Given the description of an element on the screen output the (x, y) to click on. 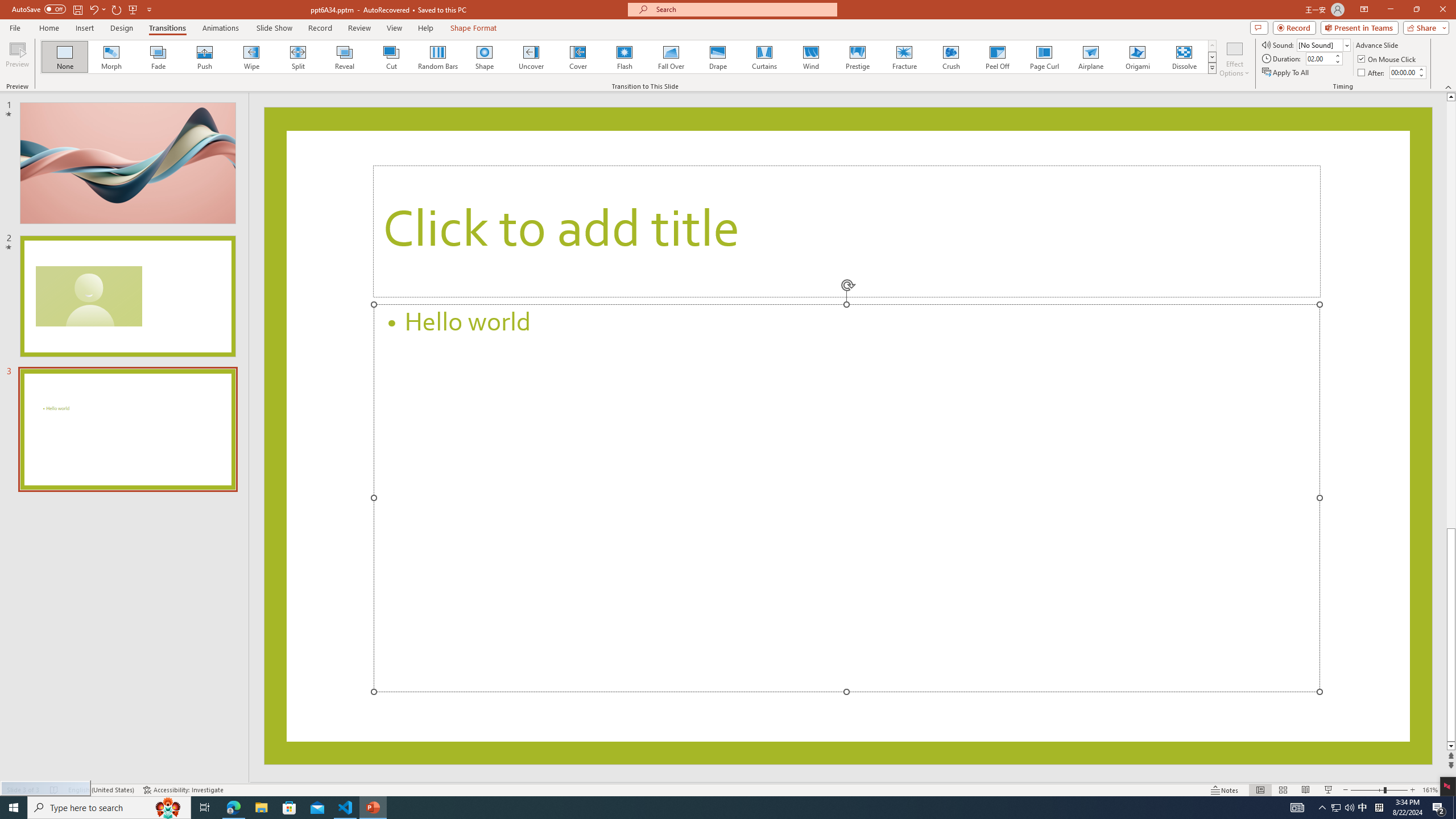
Prestige (857, 56)
Crush (950, 56)
On Mouse Click (1387, 58)
Page Curl (1043, 56)
Zoom 161% (1430, 790)
Push (205, 56)
Uncover (531, 56)
More (1420, 69)
Shape (484, 56)
